Given the description of an element on the screen output the (x, y) to click on. 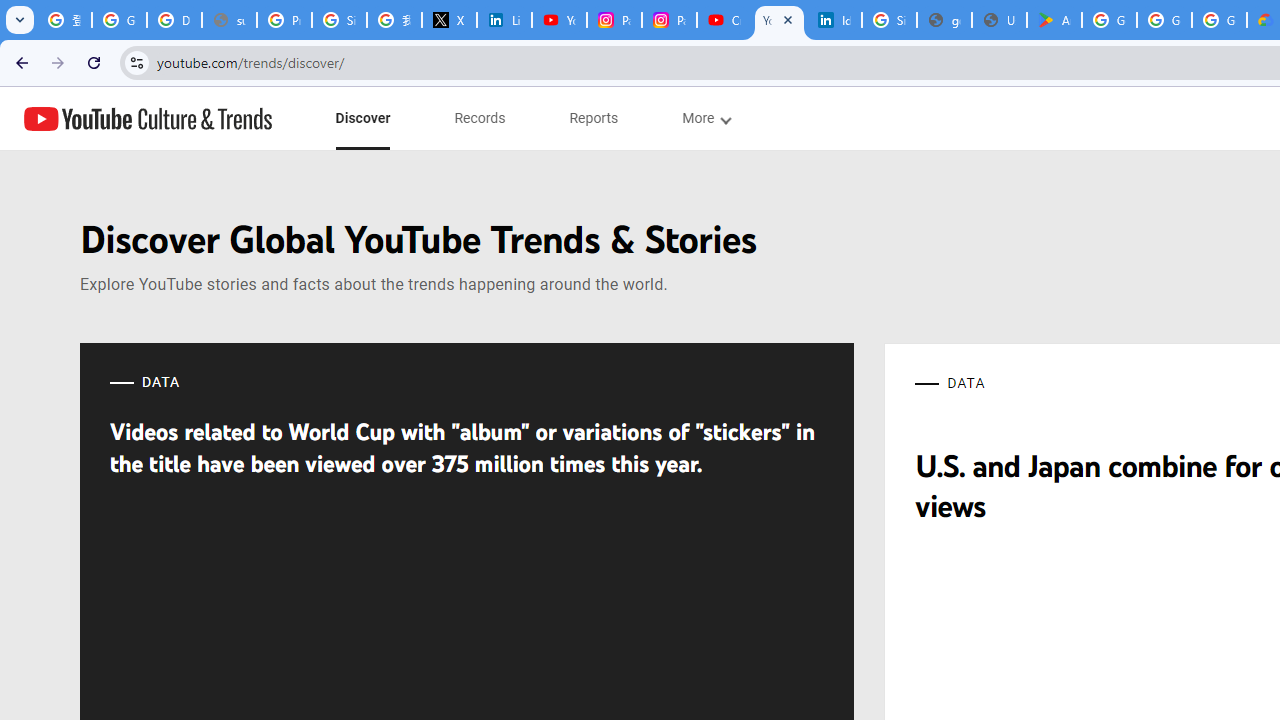
Android Apps on Google Play (1053, 20)
User Details (998, 20)
YouTube Culture & Trends (147, 118)
LinkedIn Privacy Policy (504, 20)
